Given the description of an element on the screen output the (x, y) to click on. 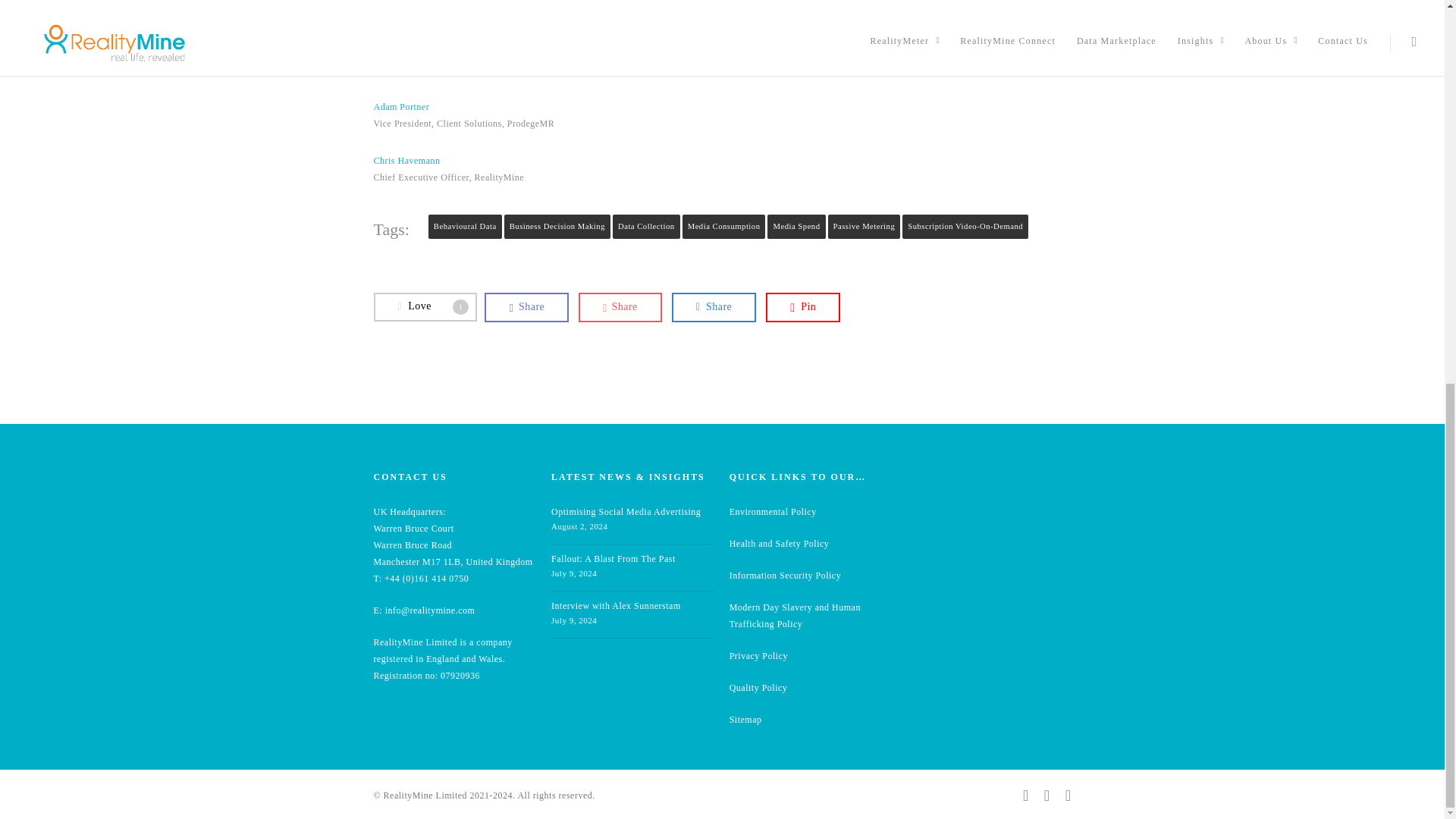
Media Consumption (723, 226)
Media Spend (796, 226)
Chris Havemann (405, 160)
Adam Portner (400, 106)
Share this (526, 307)
Behavioural Data (465, 226)
Love this (424, 306)
Share this (620, 307)
Business Decision Making (556, 226)
Subscription Video-On-Demand (964, 226)
